Given the description of an element on the screen output the (x, y) to click on. 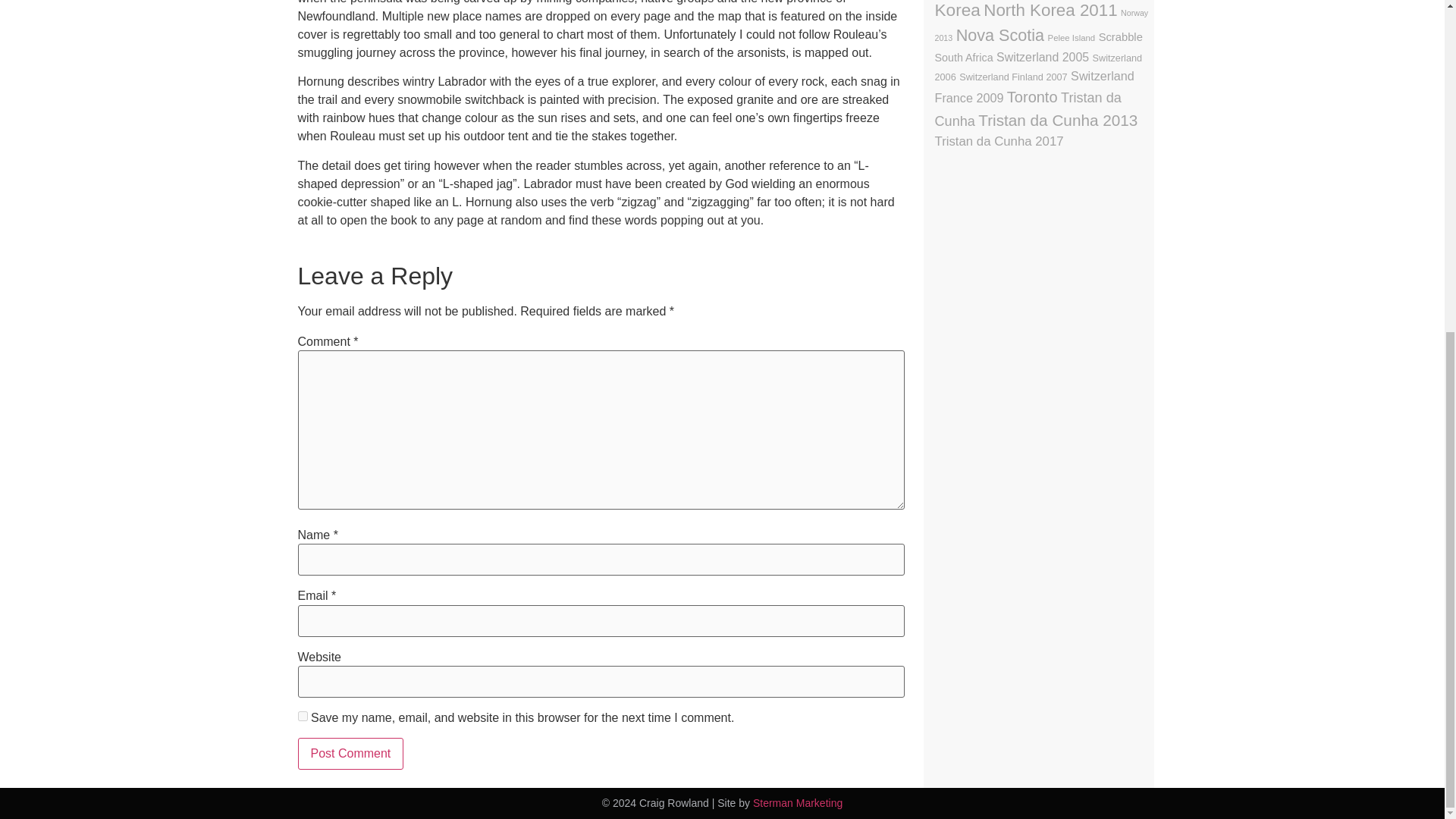
Post Comment (350, 753)
yes (302, 716)
Post Comment (350, 753)
